Given the description of an element on the screen output the (x, y) to click on. 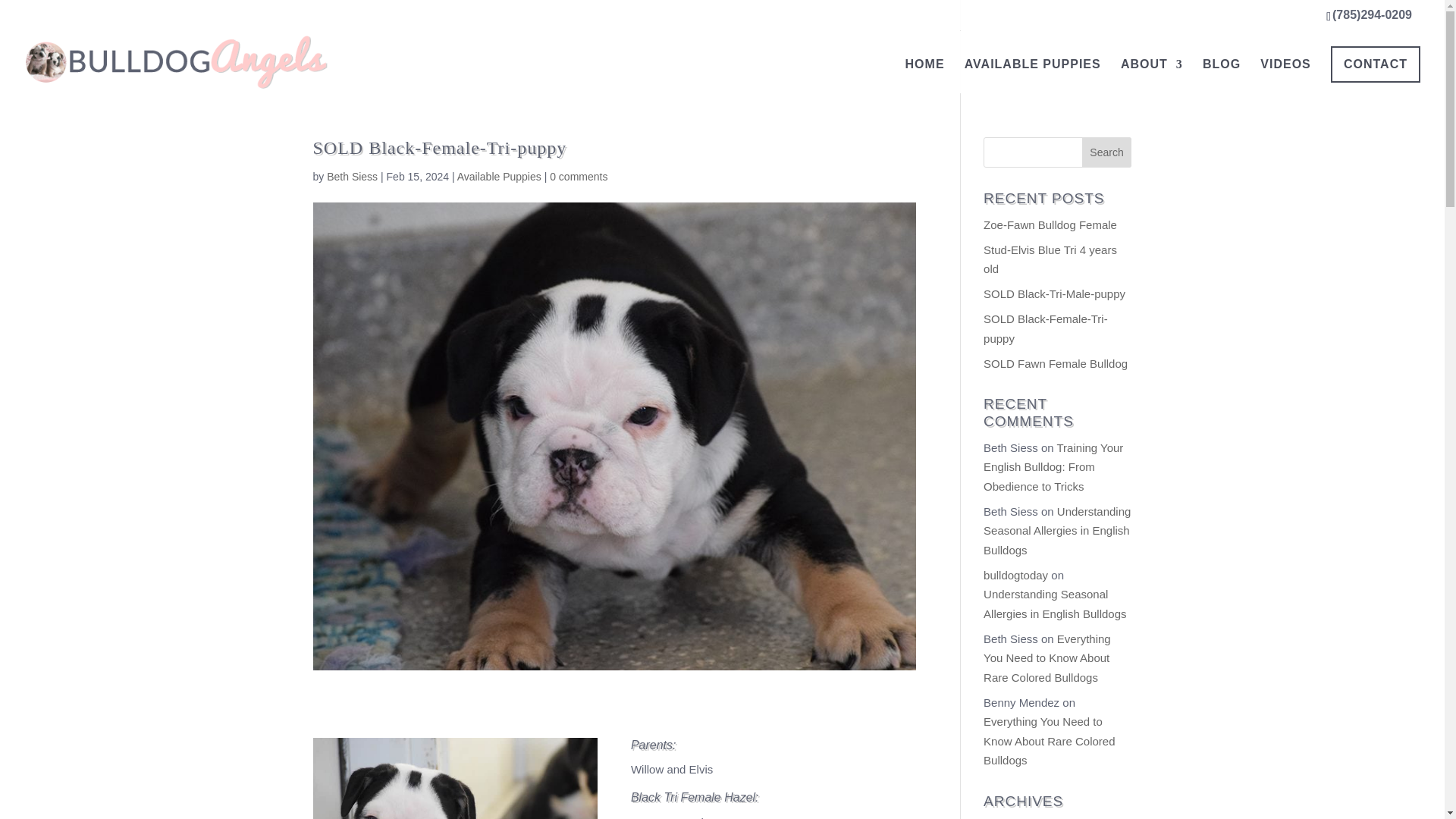
VIDEOS (1285, 71)
CONTACT (1375, 63)
Beth Siess (351, 176)
0 comments (578, 176)
ABOUT (1151, 71)
HOME (924, 71)
Search (1106, 152)
BLOG (1221, 71)
Available Puppies (499, 176)
AVAILABLE PUPPIES (1031, 71)
Posts by Beth Siess (351, 176)
